Given the description of an element on the screen output the (x, y) to click on. 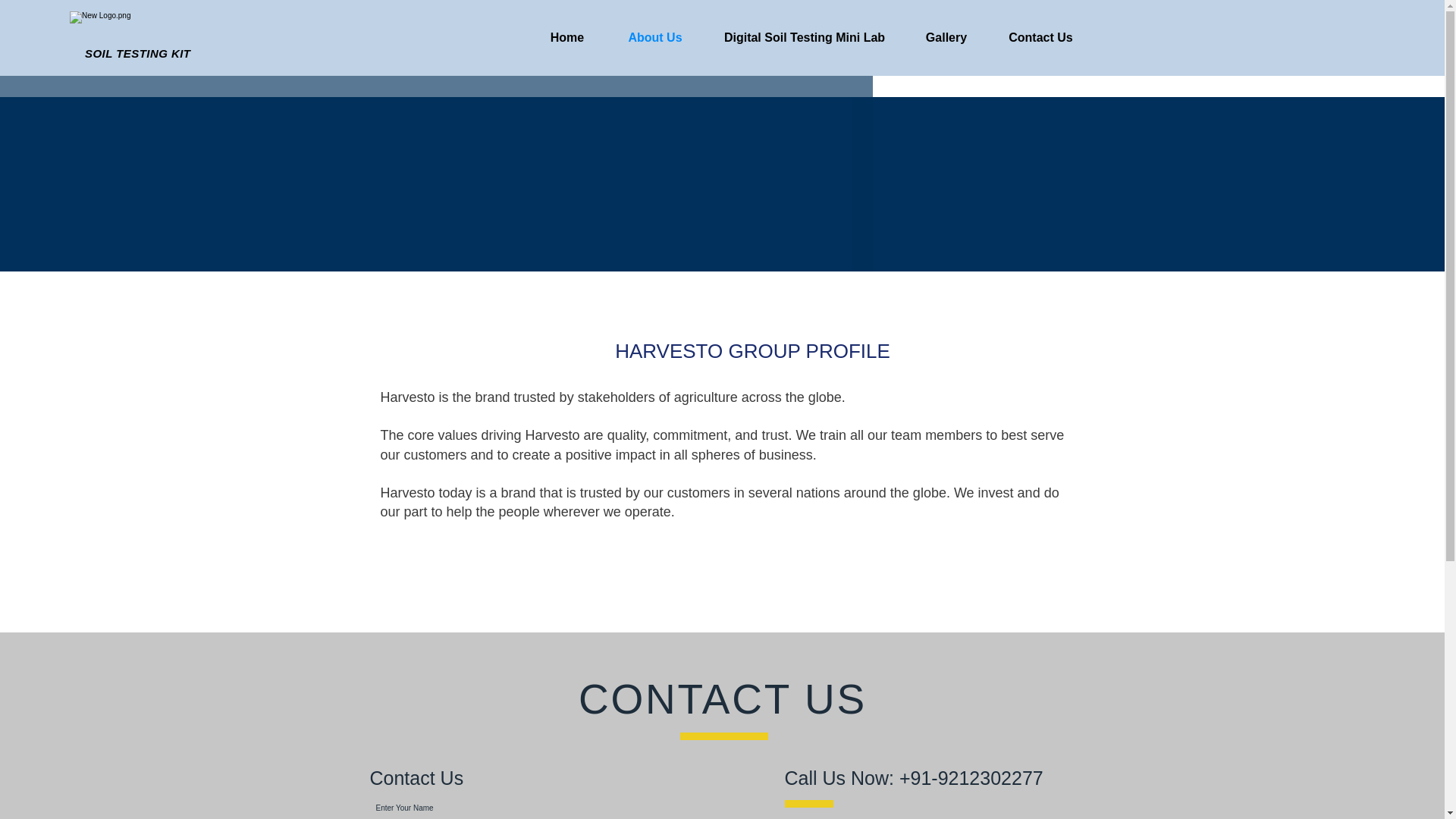
Gallery (946, 37)
Home (566, 37)
Contact Us (1040, 37)
About Us (655, 37)
Digital Soil Testing Mini Lab (803, 37)
